Given the description of an element on the screen output the (x, y) to click on. 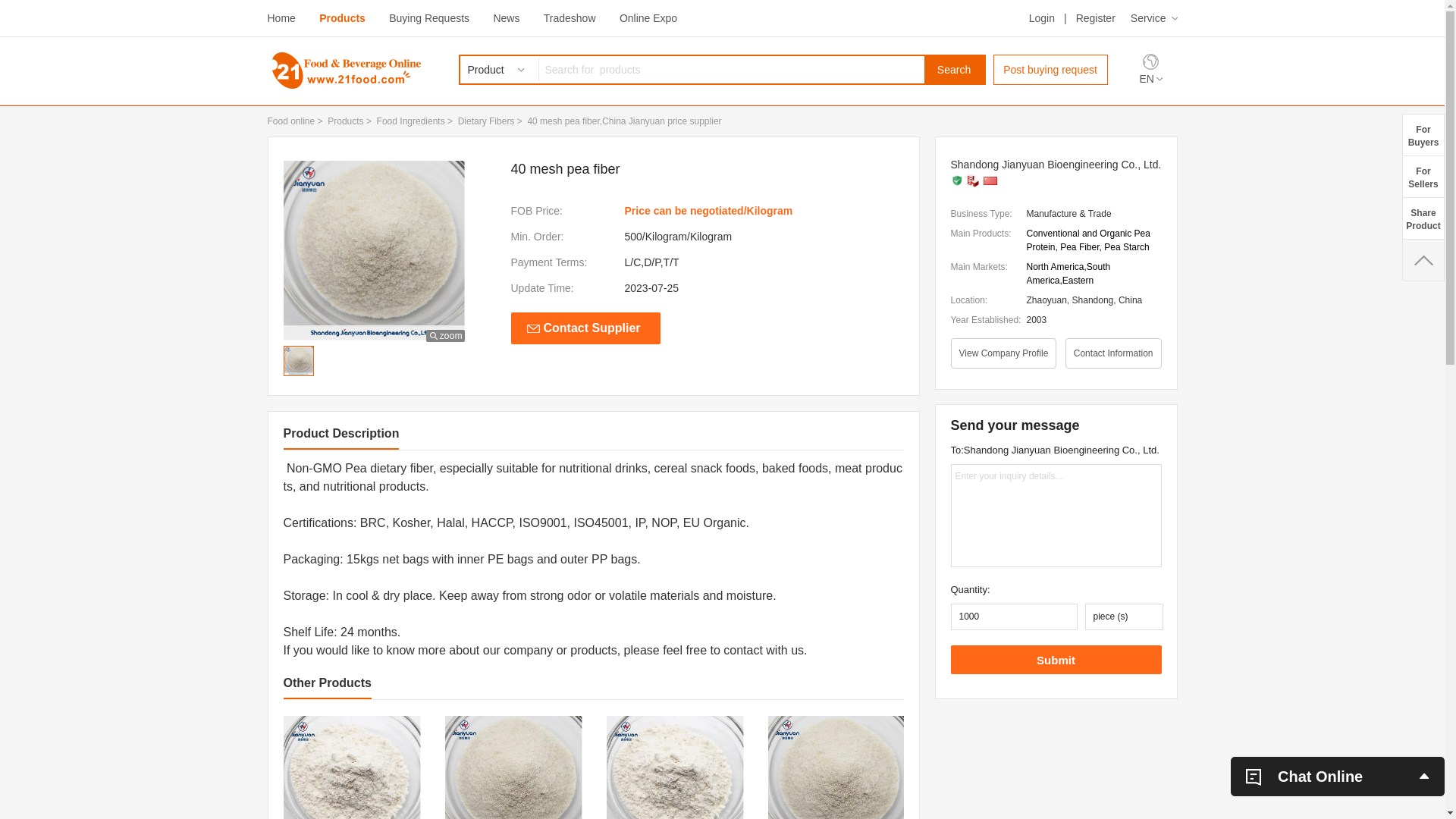
Login Element type: text (1041, 18)
Contact Information Element type: text (1113, 353)
Products Element type: text (345, 121)
For
Buyers Element type: text (1423, 134)
Contact Supplier Element type: text (585, 328)
Dietary Fibers Element type: text (486, 121)
Buying Requests Element type: text (429, 18)
News Element type: text (505, 18)
Home Element type: text (280, 18)
Share
Product Element type: text (1423, 217)
Submit Element type: text (1055, 659)
View Company Profile Element type: text (1003, 353)
EN Element type: text (1150, 78)
Shandong Jianyuan Bioengineering Co., Ltd. Element type: text (1055, 164)
Service Element type: text (1153, 18)
Post buying request Element type: text (1050, 69)
  Element type: text (1423, 259)
Manufacture Element type: hover (972, 180)
China Element type: hover (990, 180)
Search Element type: text (953, 69)
Register Element type: text (1095, 18)
Products Element type: text (342, 18)
For
Sellers Element type: text (1423, 176)
Food Ingredients Element type: text (410, 121)
Tradeshow Element type: text (569, 18)
Online Expo Element type: text (648, 18)
Food online Element type: text (290, 121)
